Given the description of an element on the screen output the (x, y) to click on. 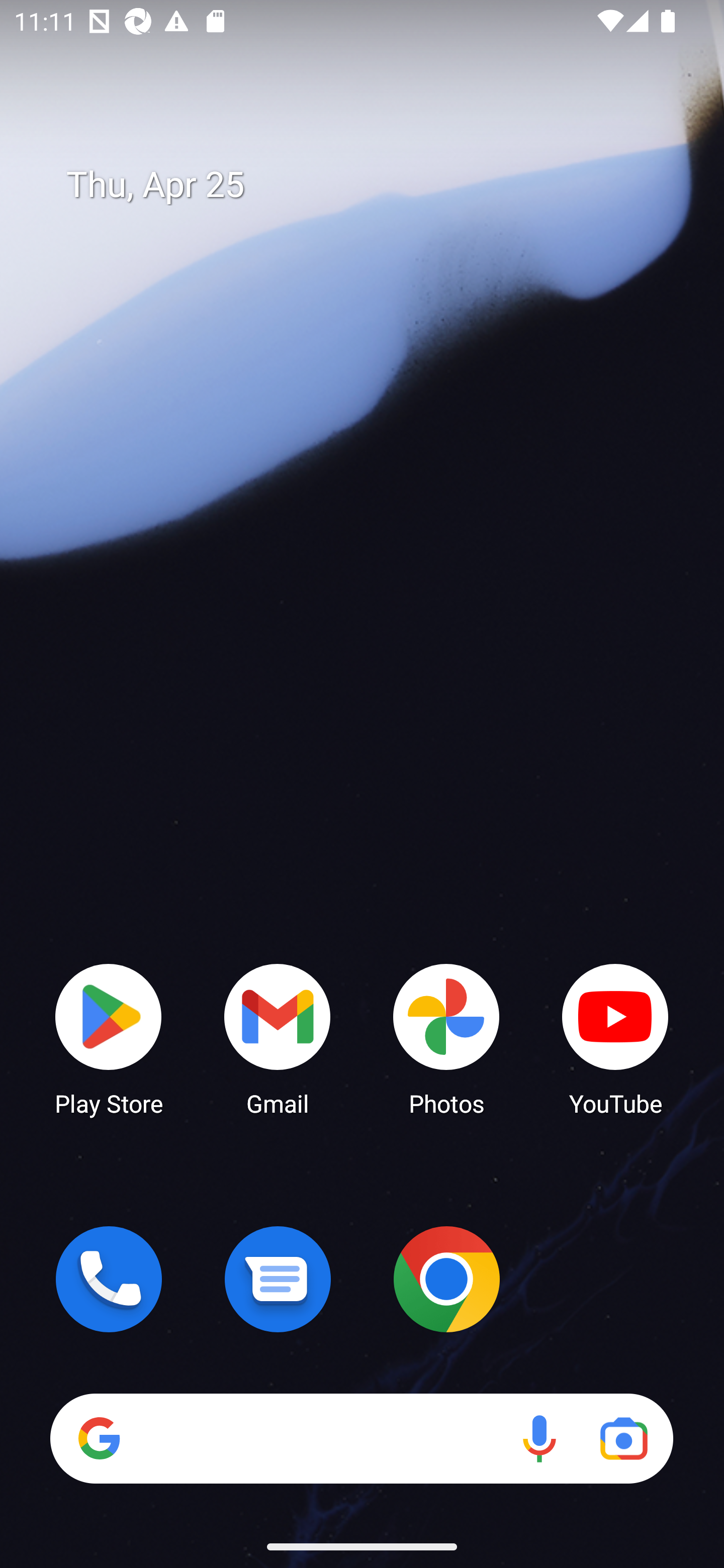
Thu, Apr 25 (375, 184)
Play Store (108, 1038)
Gmail (277, 1038)
Photos (445, 1038)
YouTube (615, 1038)
Phone (108, 1279)
Messages (277, 1279)
Chrome (446, 1279)
Search Voice search Google Lens (361, 1438)
Voice search (539, 1438)
Google Lens (623, 1438)
